Given the description of an element on the screen output the (x, y) to click on. 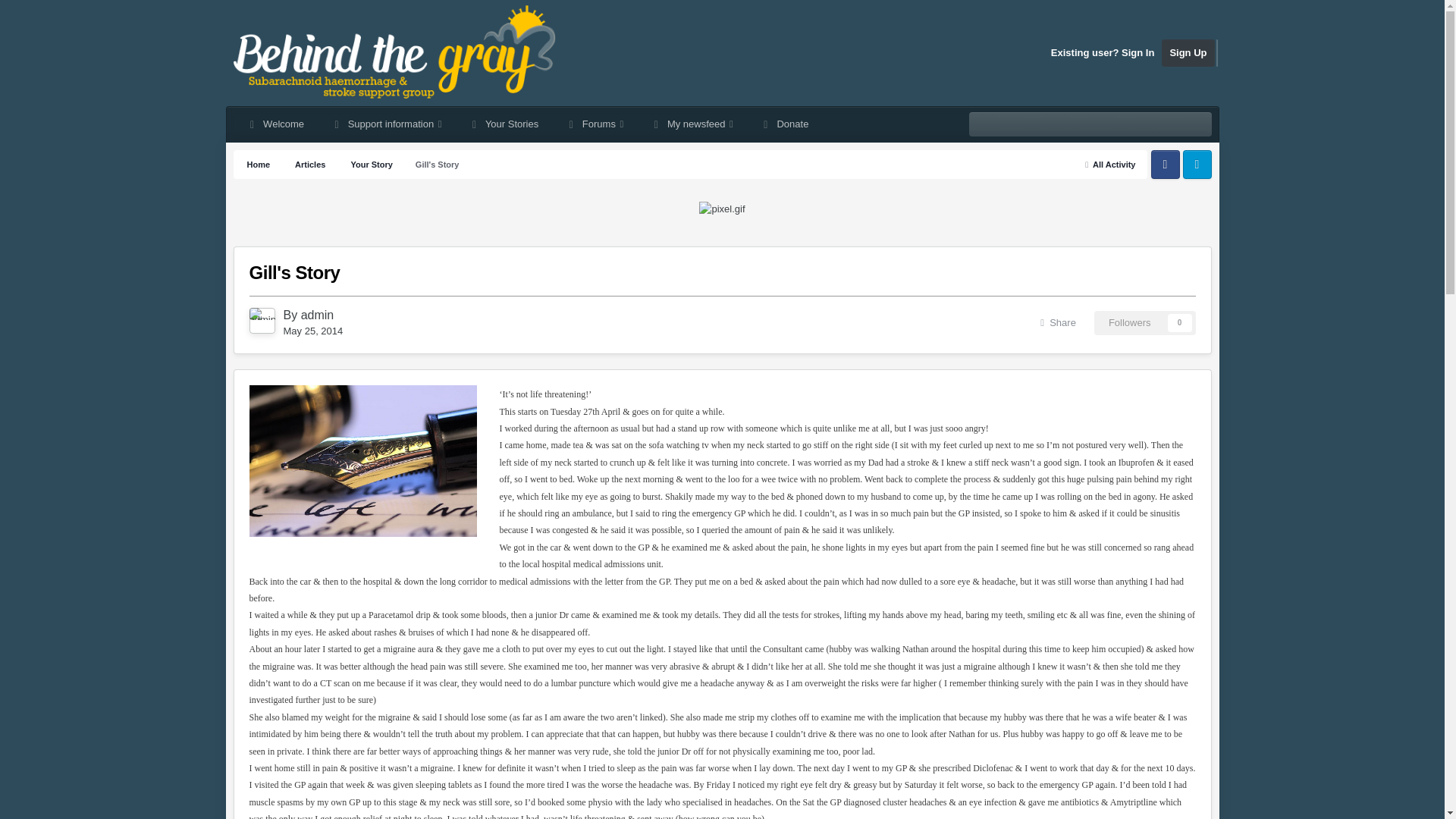
Facebook (1165, 164)
Twitter (1196, 164)
My newsfeed (691, 124)
Home (257, 164)
Existing user? Sign In (1102, 52)
Forums (594, 124)
Go to admin's profile (317, 314)
Donate (784, 124)
Sign Up (1187, 52)
Sign in to follow this (1144, 322)
